Given the description of an element on the screen output the (x, y) to click on. 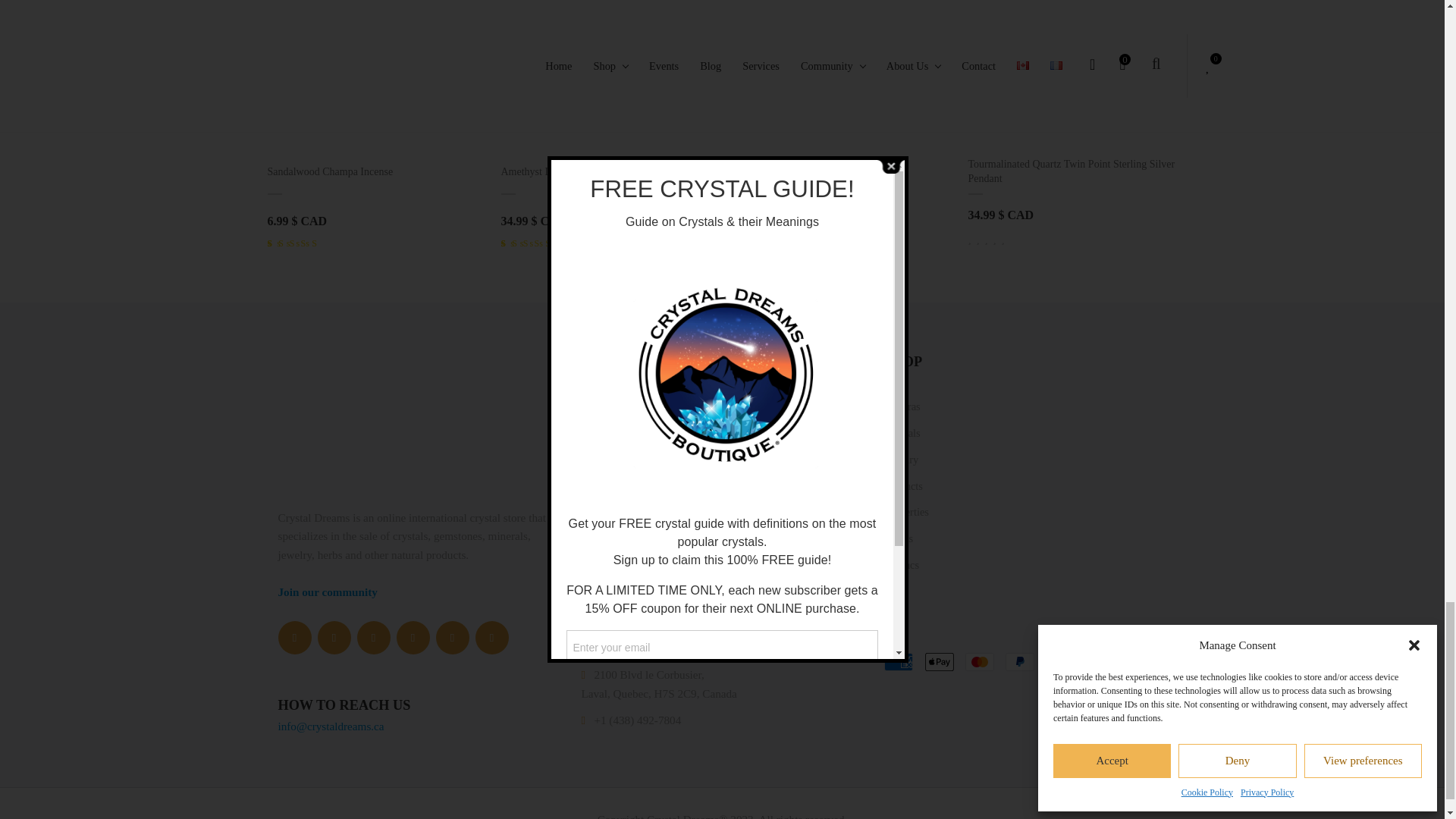
Mastercard (979, 661)
Apple Pay (938, 661)
PayPal (1019, 661)
American Express (897, 661)
Visa (1098, 661)
